Given the description of an element on the screen output the (x, y) to click on. 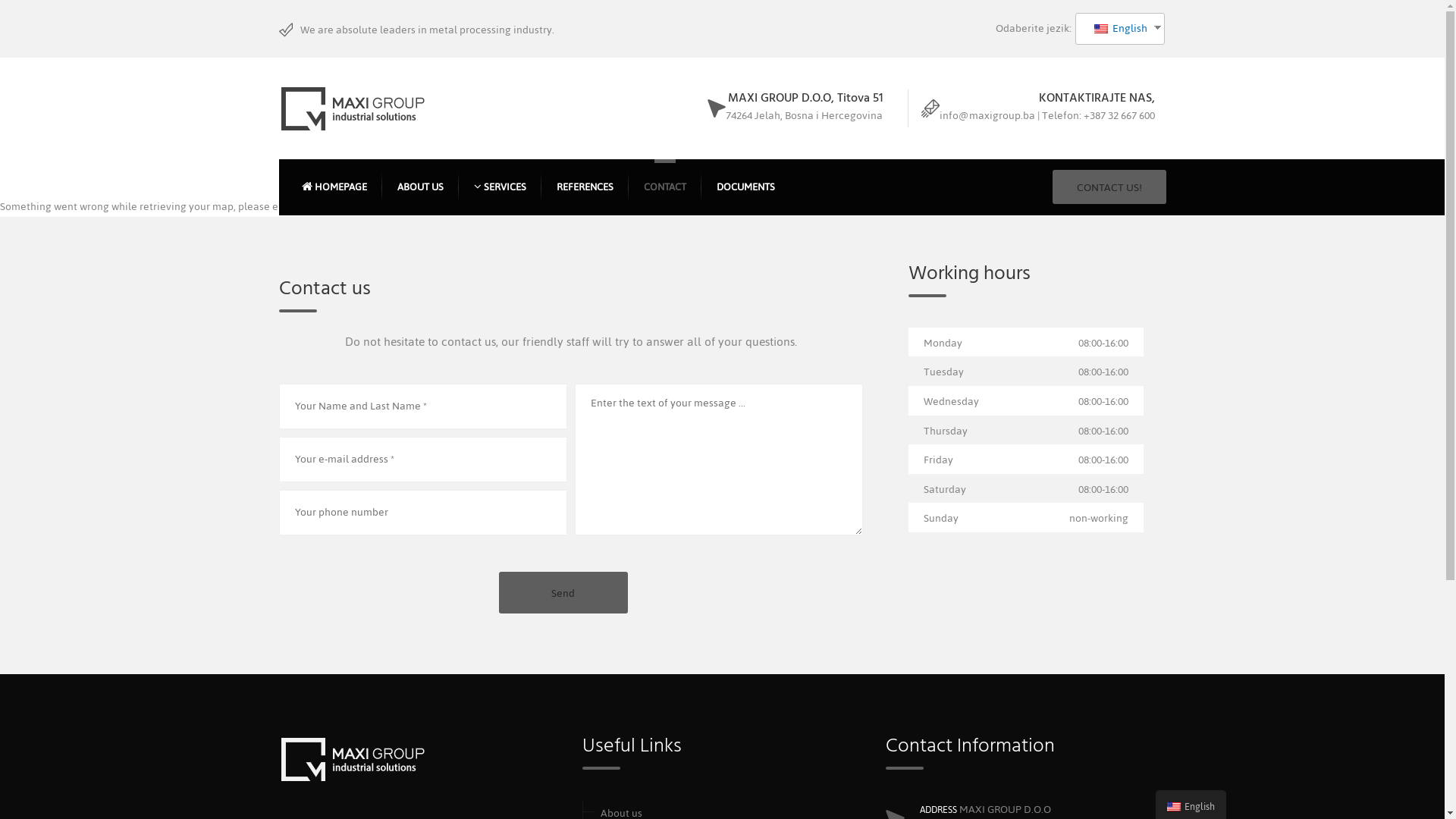
Maxi Transport Element type: text (639, 326)
CONTACT US! Element type: text (1109, 186)
Maxi Metall Element type: text (639, 286)
VAT NUMBER Element type: text (882, 286)
Telefon: +387 32 667 600 Element type: text (1097, 115)
Maxi Accessories Element type: text (639, 246)
SERVICES Element type: text (499, 187)
ABOUT US Element type: text (420, 187)
REFERENCES Element type: text (584, 187)
info@maxigroup.ba Element type: text (986, 115)
DOCUMENTS Element type: text (744, 187)
HOMEPAGE Element type: text (334, 187)
English Element type: hover (1100, 28)
ID NUMBER Element type: text (882, 246)
English Element type: text (1113, 28)
Send Element type: text (562, 592)
English Element type: hover (1173, 806)
CONTACT Element type: text (664, 187)
